Given the description of an element on the screen output the (x, y) to click on. 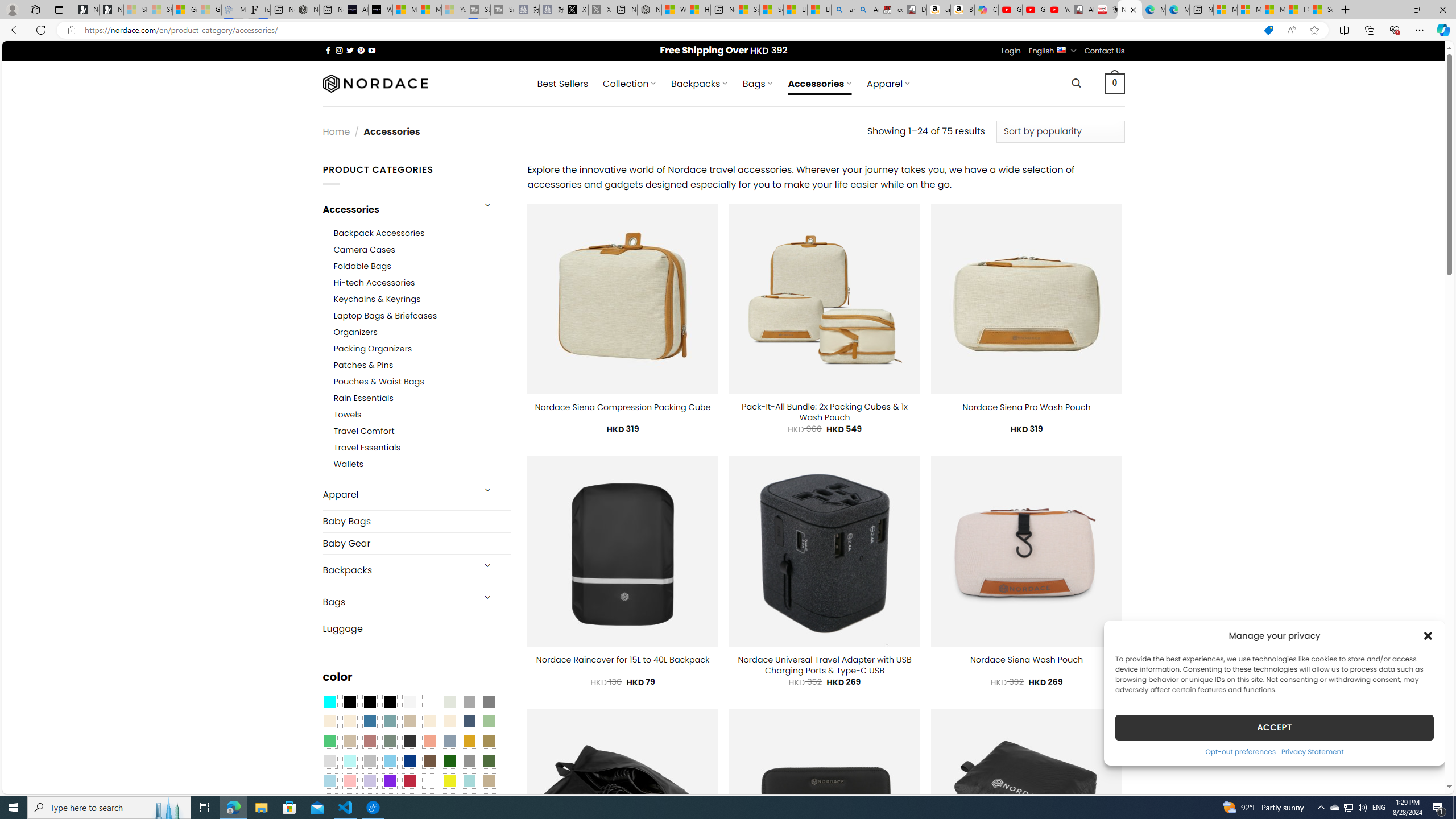
Pack-It-All Bundle: 2x Packing Cubes & 1x Wash Pouch (824, 412)
Beige (329, 721)
Shop order (1060, 131)
Class: cmplz-close (1428, 635)
  Best Sellers (562, 83)
Login (1010, 50)
Login (1010, 50)
Nordace Siena Compression Packing Cube (622, 406)
Travel Comfort (363, 431)
Brownie (408, 721)
Baby Gear (416, 542)
